Given the description of an element on the screen output the (x, y) to click on. 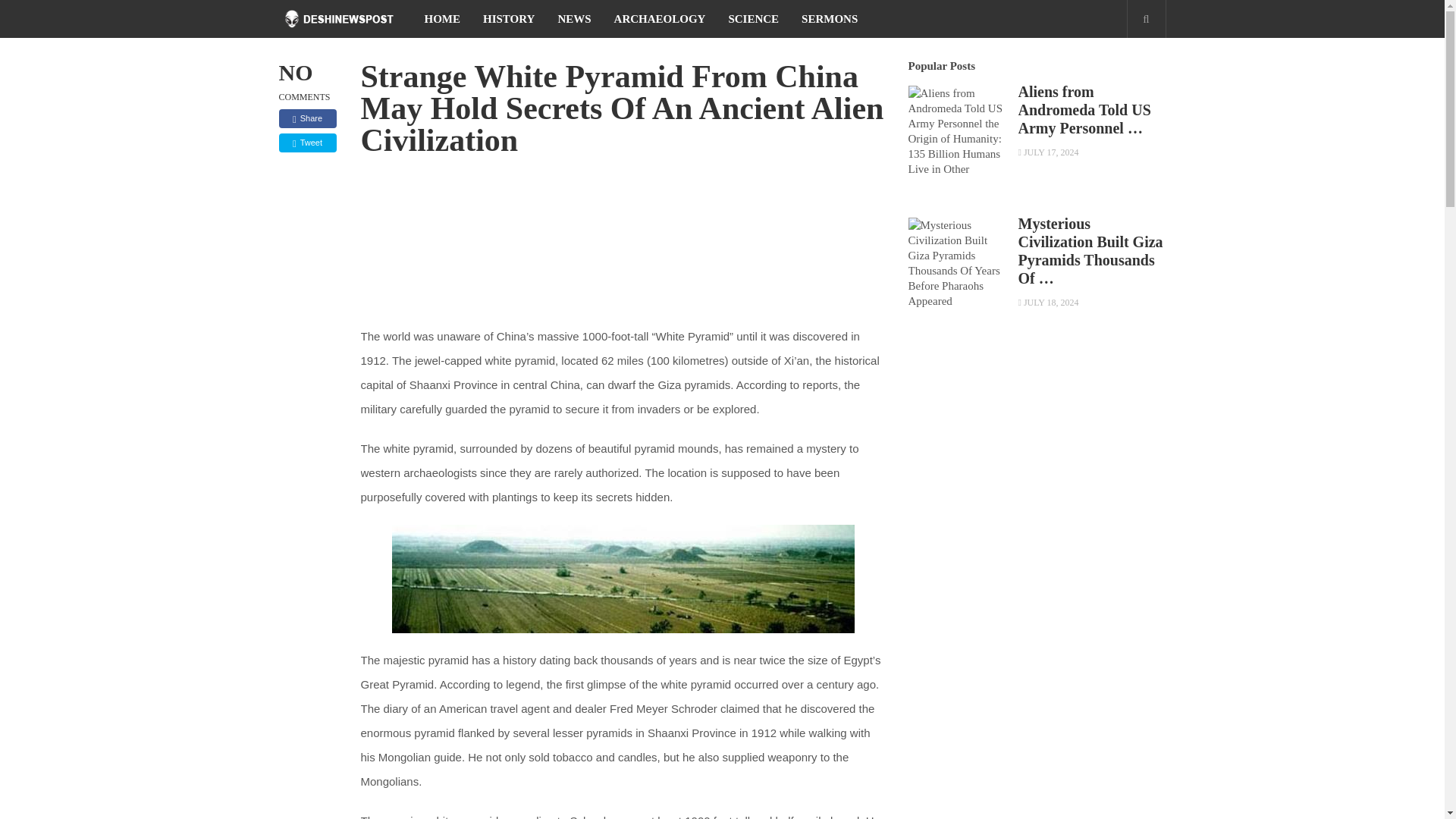
NEWS (574, 18)
SERMONS (829, 18)
Share (307, 117)
Tweet (307, 142)
SCIENCE (753, 18)
ARCHAEOLOGY (659, 18)
HOME (441, 18)
HISTORY (508, 18)
